Given the description of an element on the screen output the (x, y) to click on. 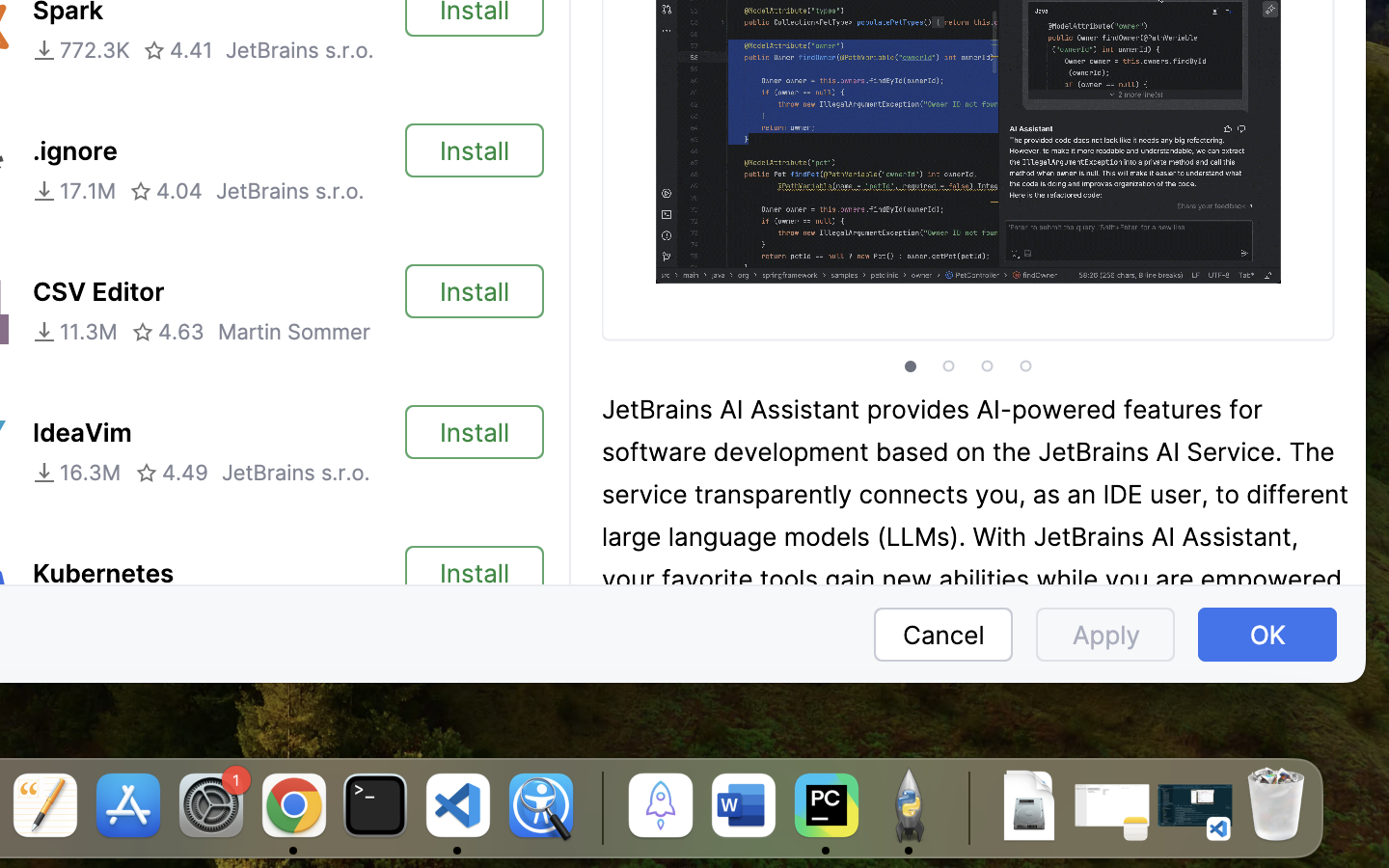
Kubernetes Element type: AXStaticText (102, 573)
4.04 Element type: AXStaticText (165, 190)
.ignore Element type: AXStaticText (74, 151)
CSV Editor Element type: AXStaticText (97, 291)
6.7M Element type: AXStaticText (70, 612)
